Given the description of an element on the screen output the (x, y) to click on. 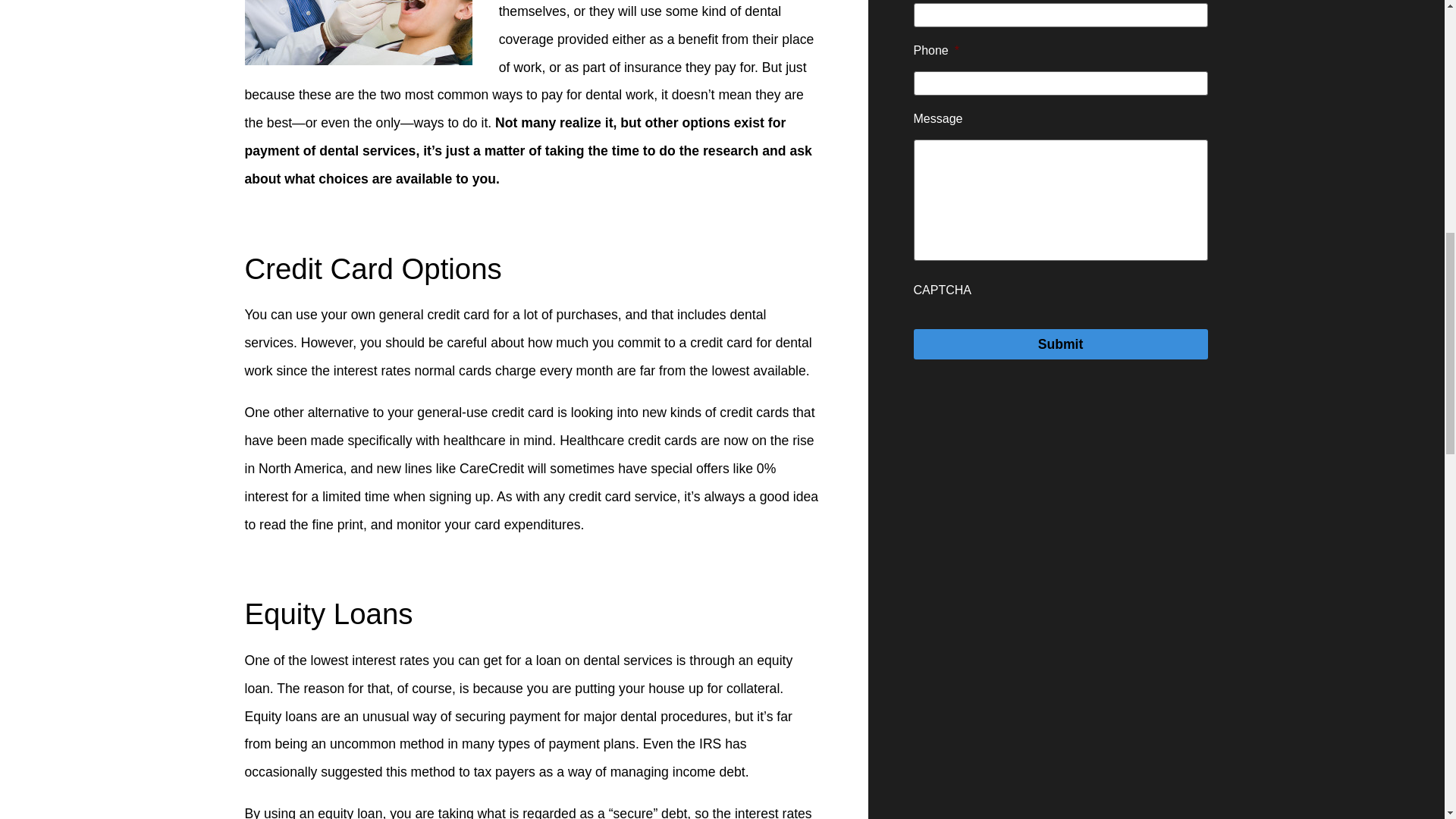
Submit (1059, 344)
